Given the description of an element on the screen output the (x, y) to click on. 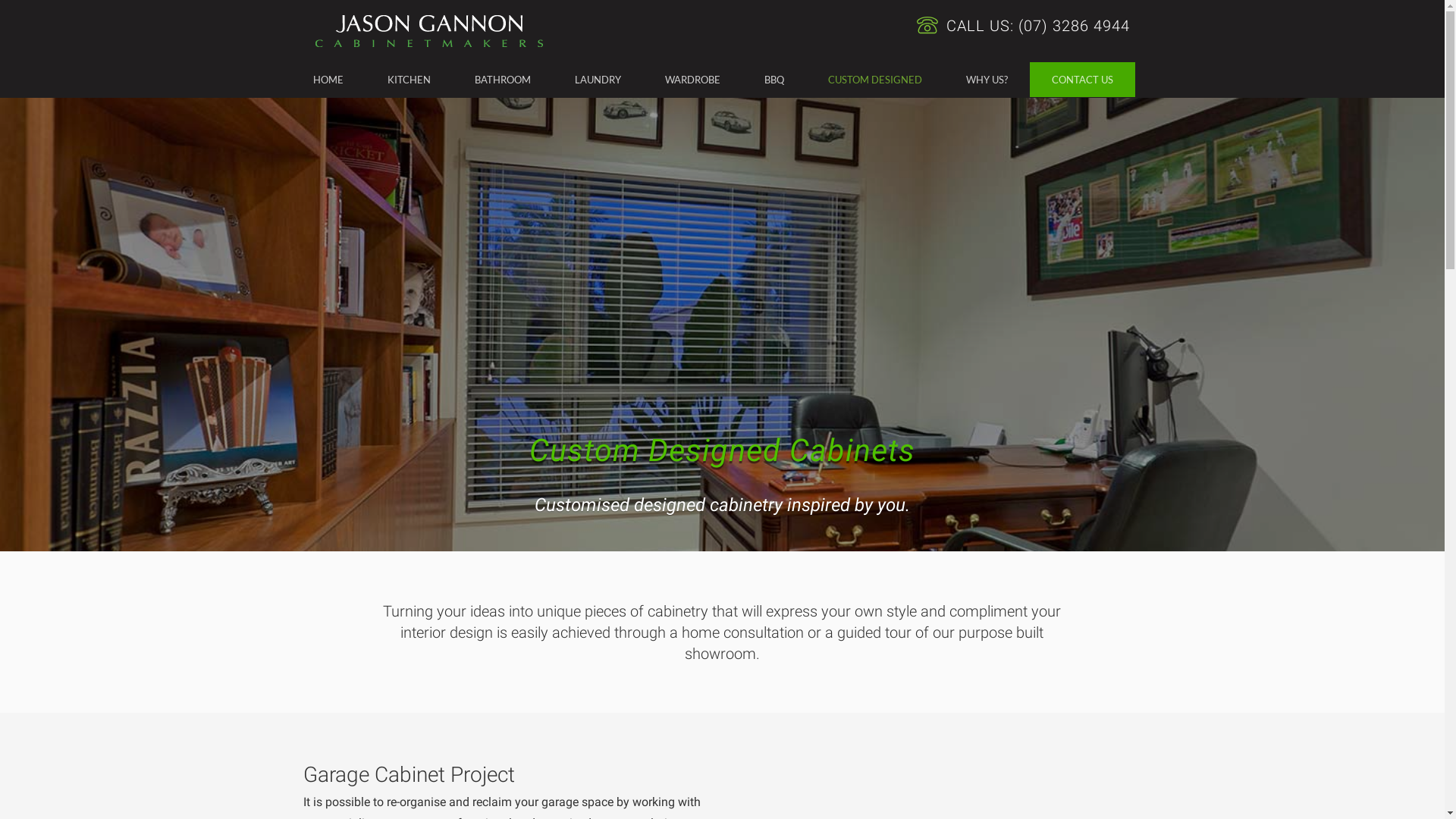
CALL US: (07) 3286 4944 Element type: text (1022, 25)
WARDROBE Element type: text (692, 79)
LAUNDRY Element type: text (597, 79)
HOME Element type: text (328, 79)
WHY US? Element type: text (986, 79)
CUSTOM DESIGNED Element type: text (874, 79)
BBQ Element type: text (773, 79)
KITCHEN Element type: text (408, 79)
CONTACT US Element type: text (1082, 79)
Jason Gannon Cabinetmakers Element type: hover (428, 31)
BATHROOM Element type: text (501, 79)
